Given the description of an element on the screen output the (x, y) to click on. 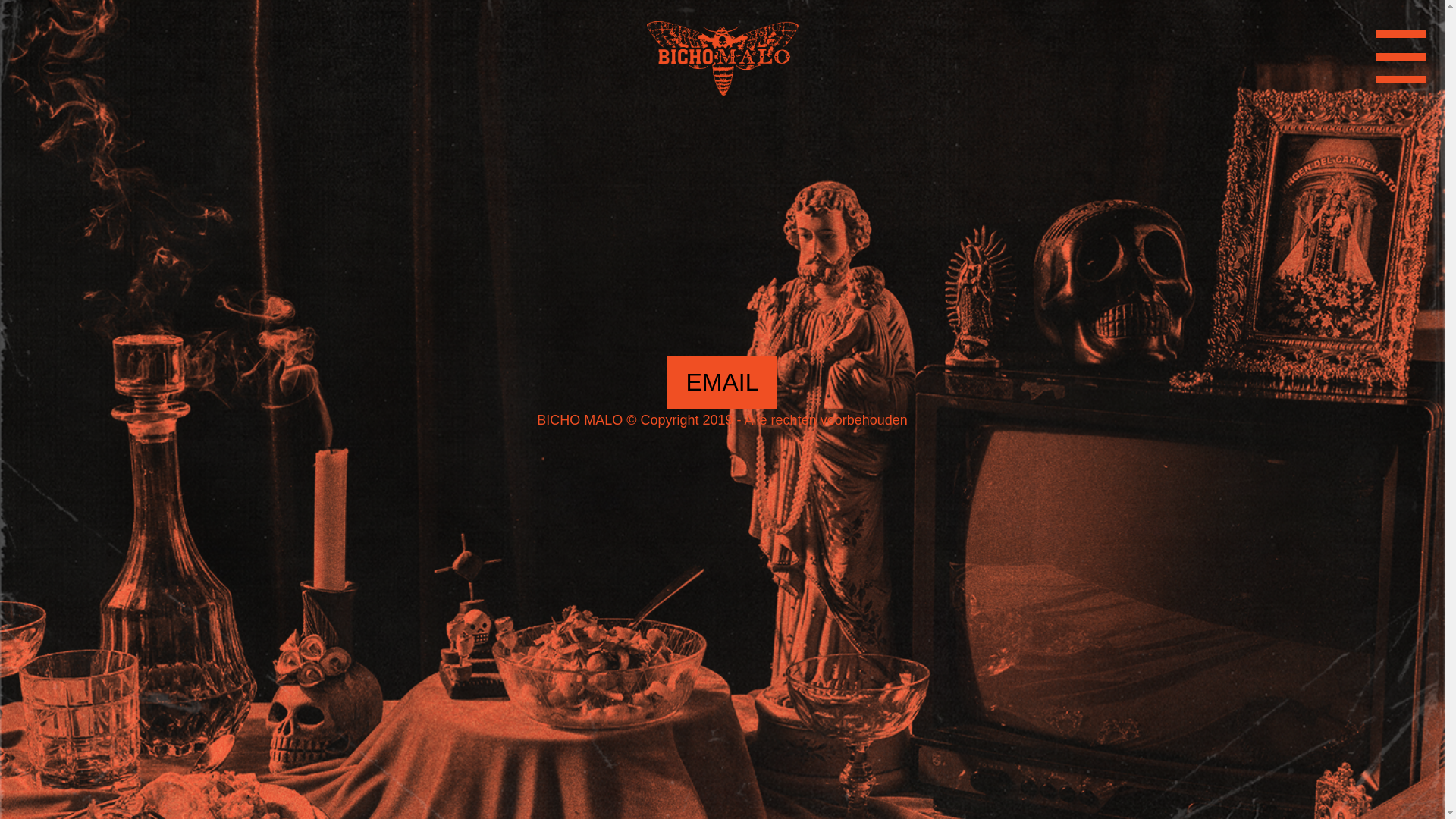
Bicho Malo Element type: hover (721, 60)
EMAIL Element type: text (721, 382)
